Given the description of an element on the screen output the (x, y) to click on. 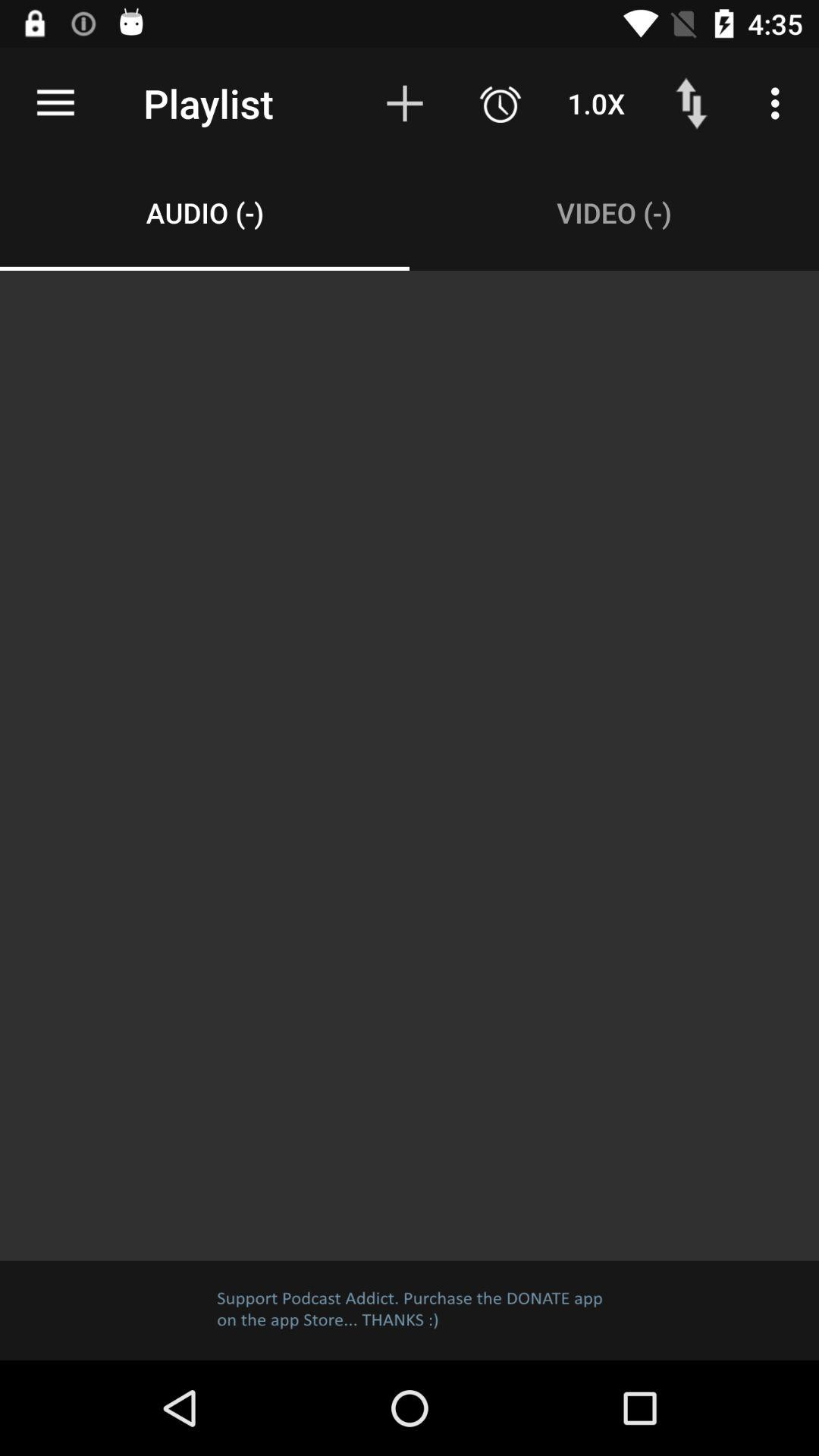
press the item next to audio (-) icon (614, 212)
